Given the description of an element on the screen output the (x, y) to click on. 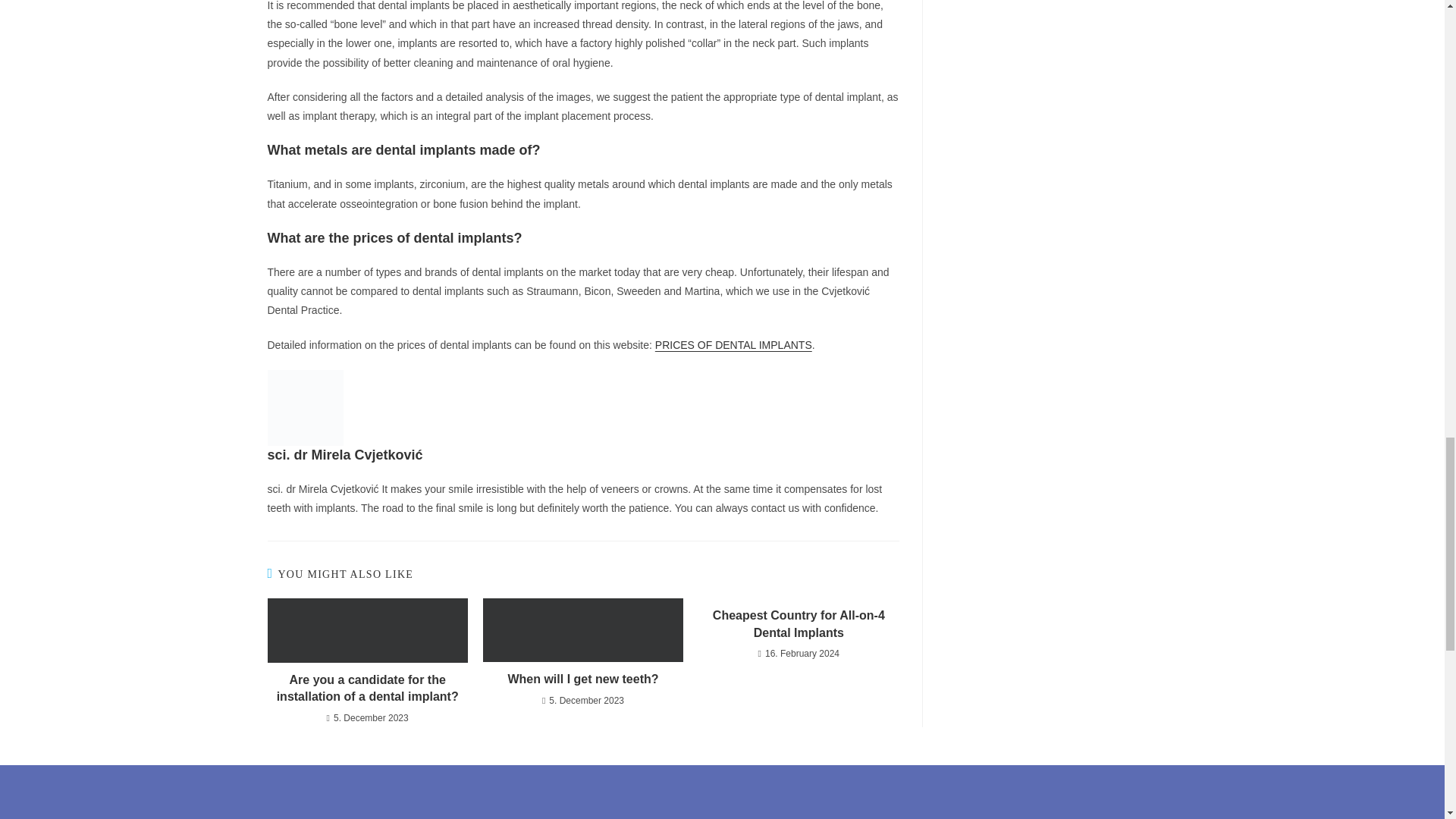
Visit author page (304, 406)
Visit author page (344, 454)
